Given the description of an element on the screen output the (x, y) to click on. 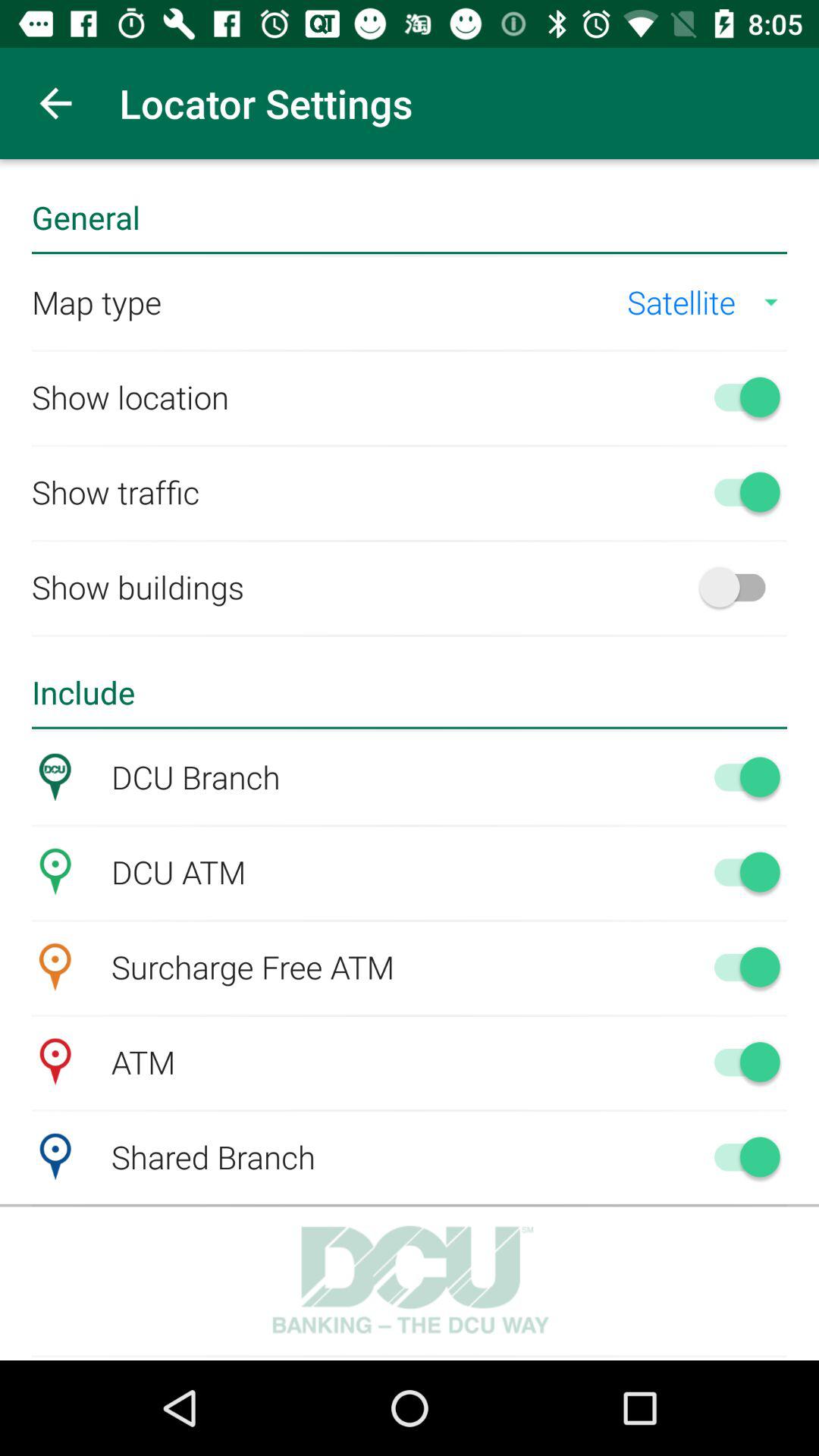
turn on dcu atm (739, 871)
